Given the description of an element on the screen output the (x, y) to click on. 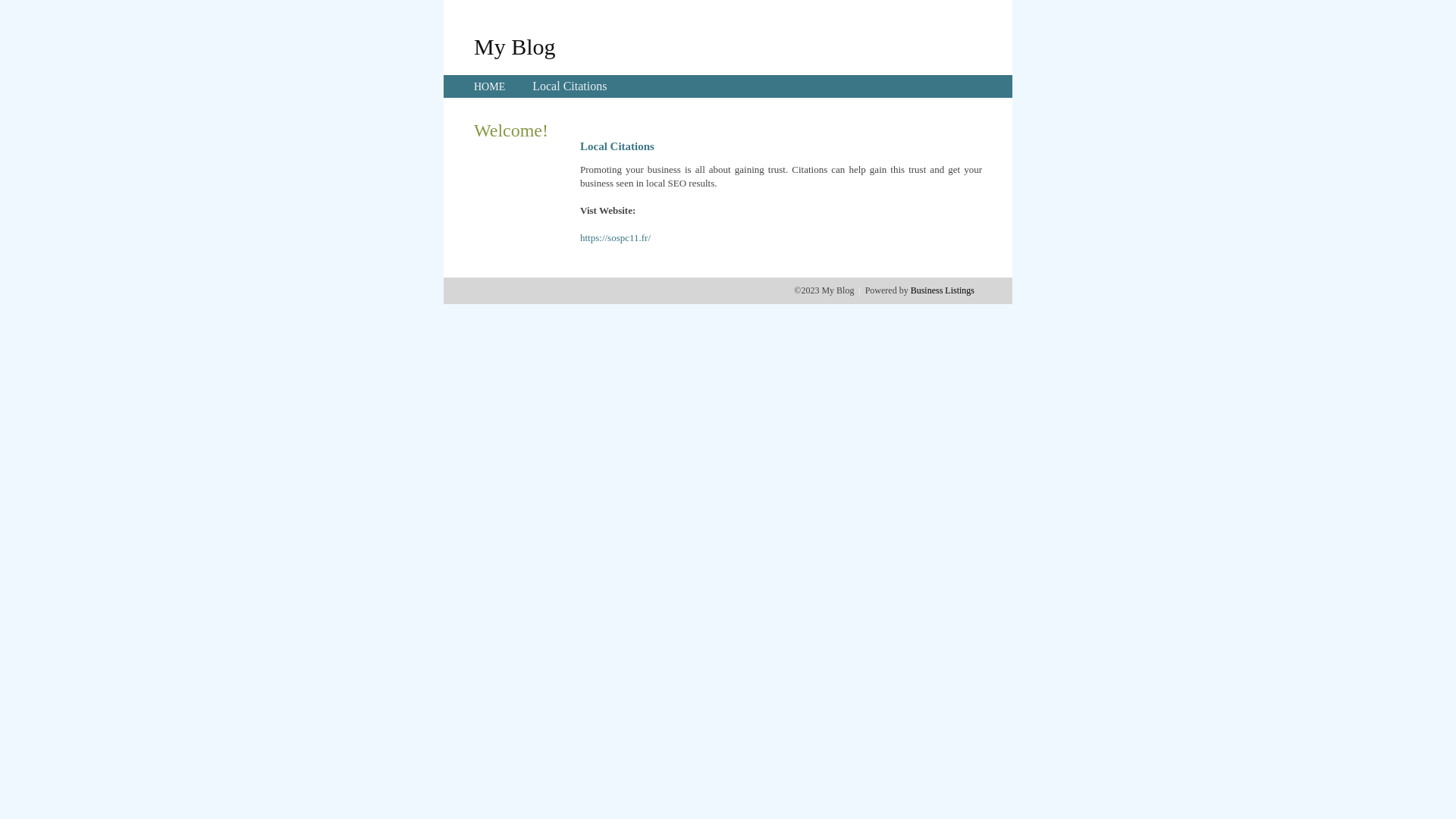
https://sospc11.fr/ Element type: text (615, 237)
HOME Element type: text (489, 86)
Business Listings Element type: text (942, 290)
My Blog Element type: text (514, 46)
Local Citations Element type: text (569, 85)
